Given the description of an element on the screen output the (x, y) to click on. 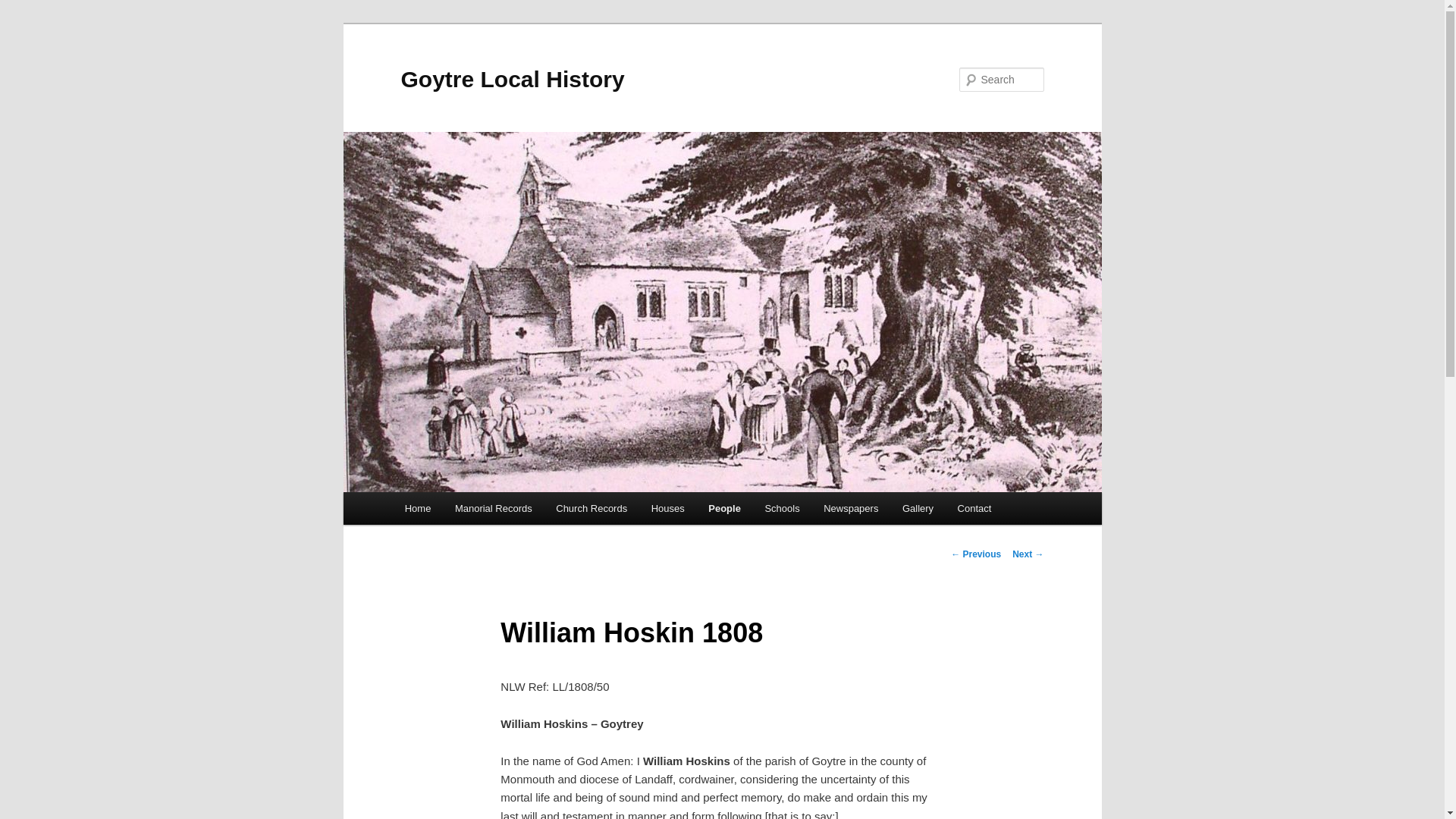
Manorial Records (492, 508)
Goytre Local History (512, 78)
Search (24, 8)
Home (417, 508)
